Given the description of an element on the screen output the (x, y) to click on. 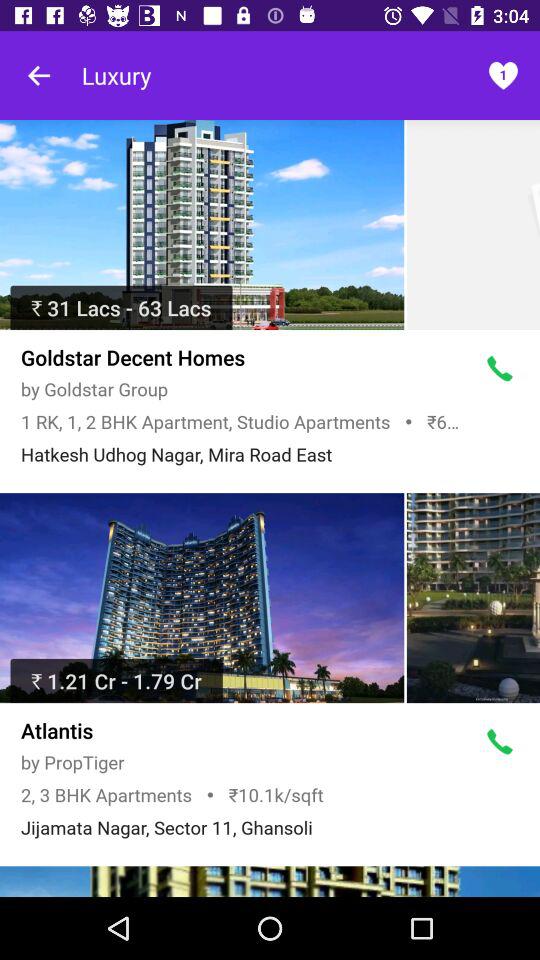
choose image (270, 881)
